Given the description of an element on the screen output the (x, y) to click on. 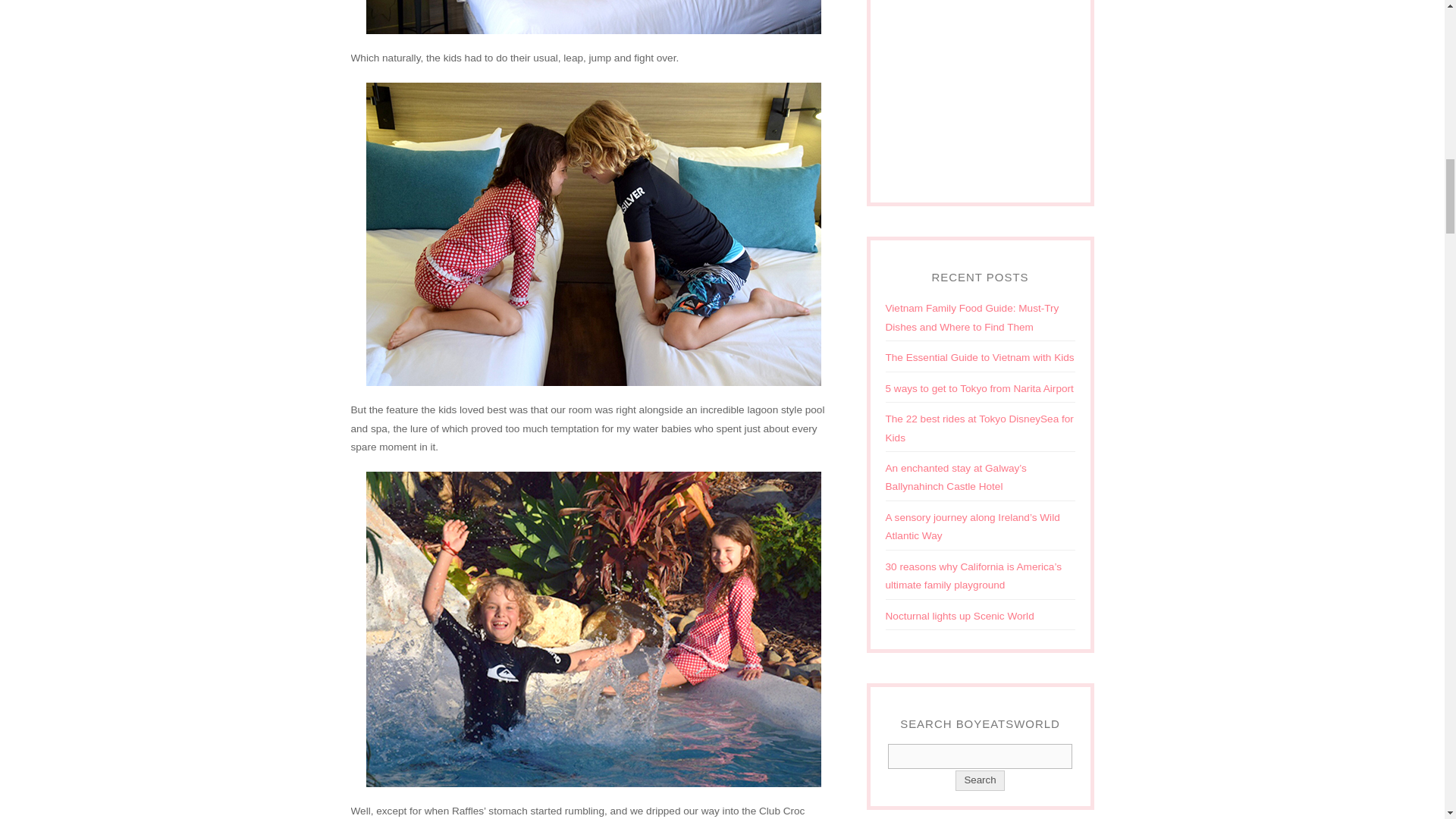
Search (979, 756)
